Given the description of an element on the screen output the (x, y) to click on. 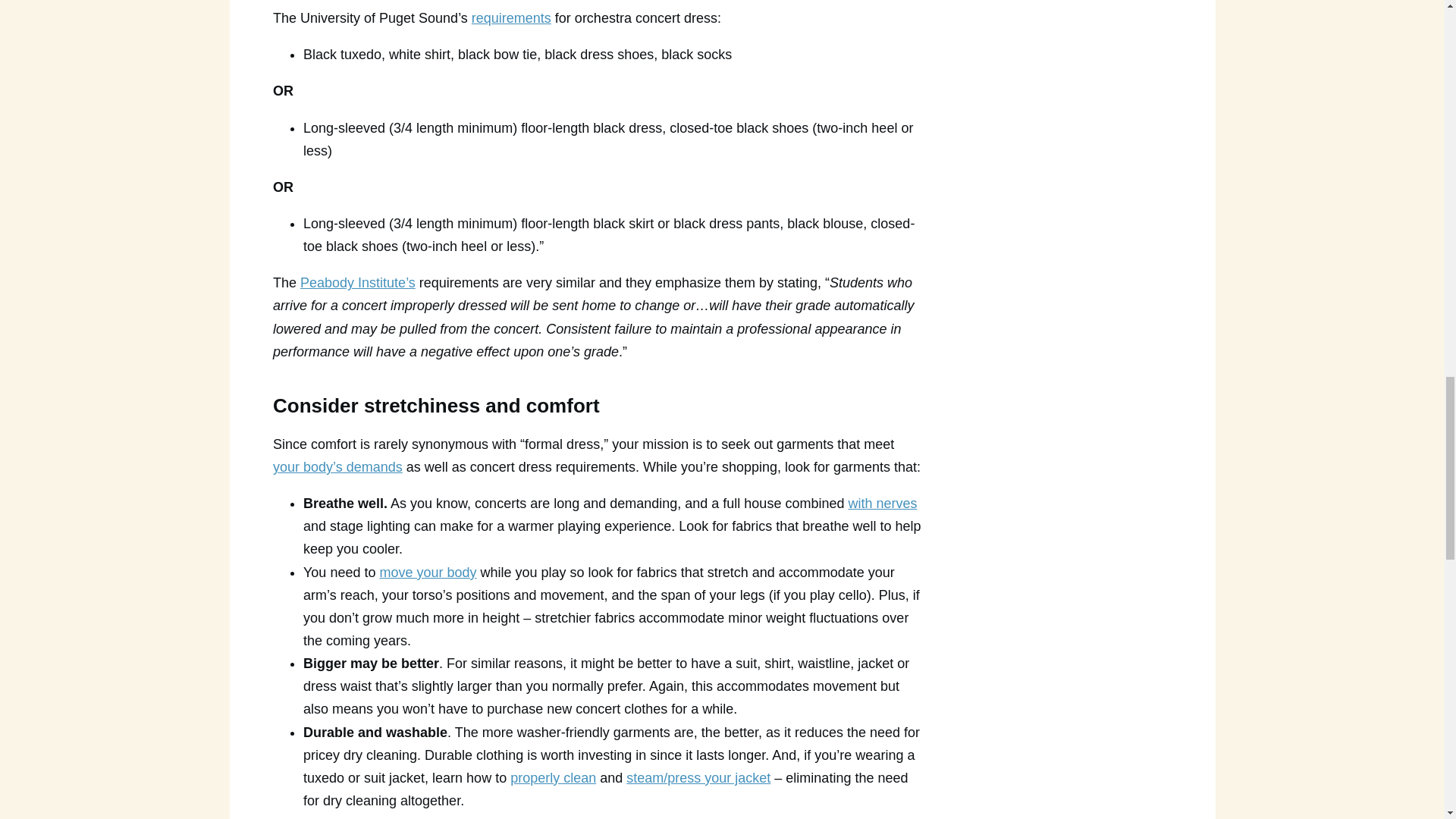
move your body (427, 572)
properly clean (553, 777)
with nerves (882, 503)
requirements (511, 17)
